Given the description of an element on the screen output the (x, y) to click on. 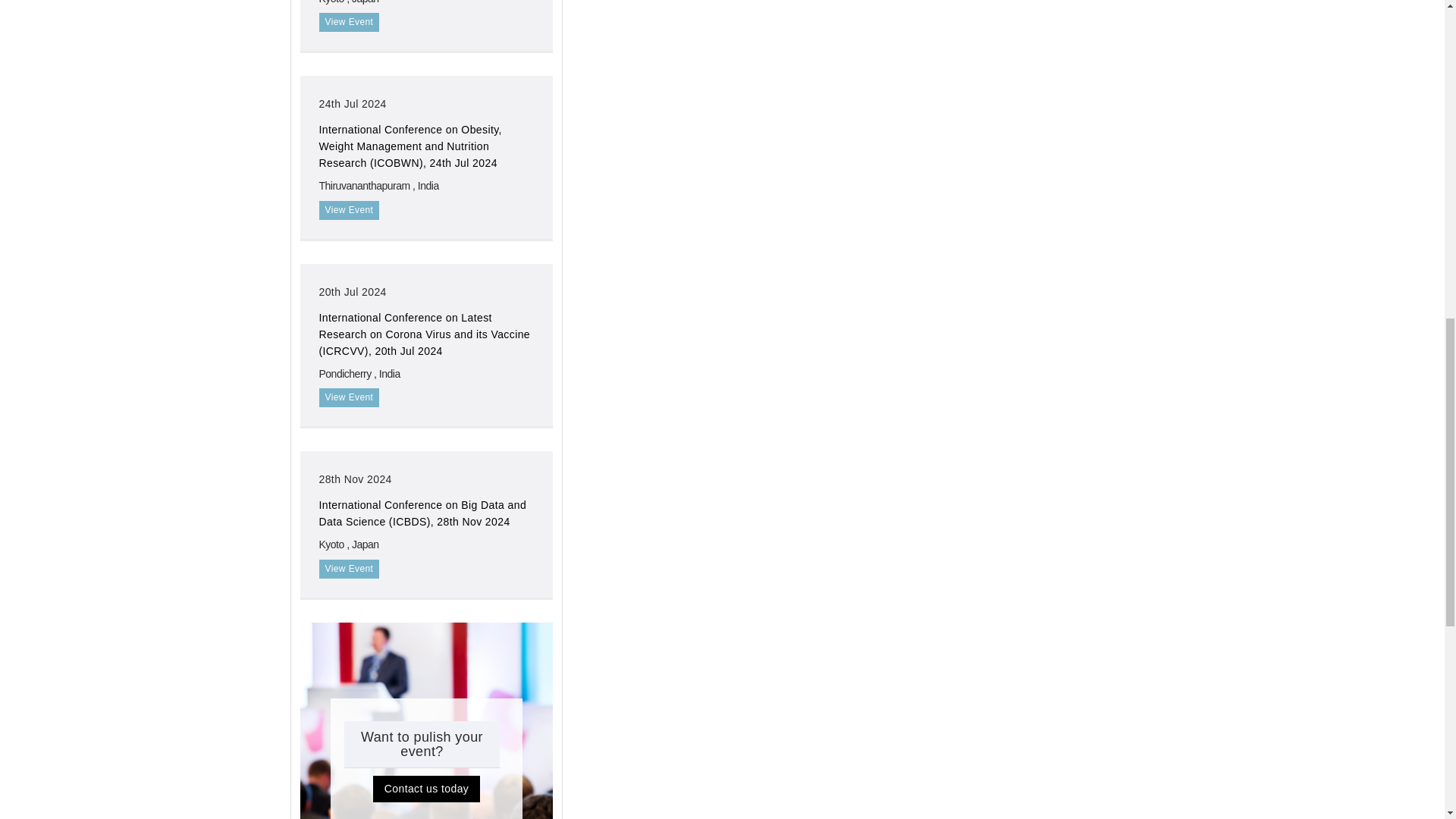
Contact us today (426, 788)
View Event (348, 22)
View Event (348, 568)
View Event (348, 210)
View Event (348, 397)
